Given the description of an element on the screen output the (x, y) to click on. 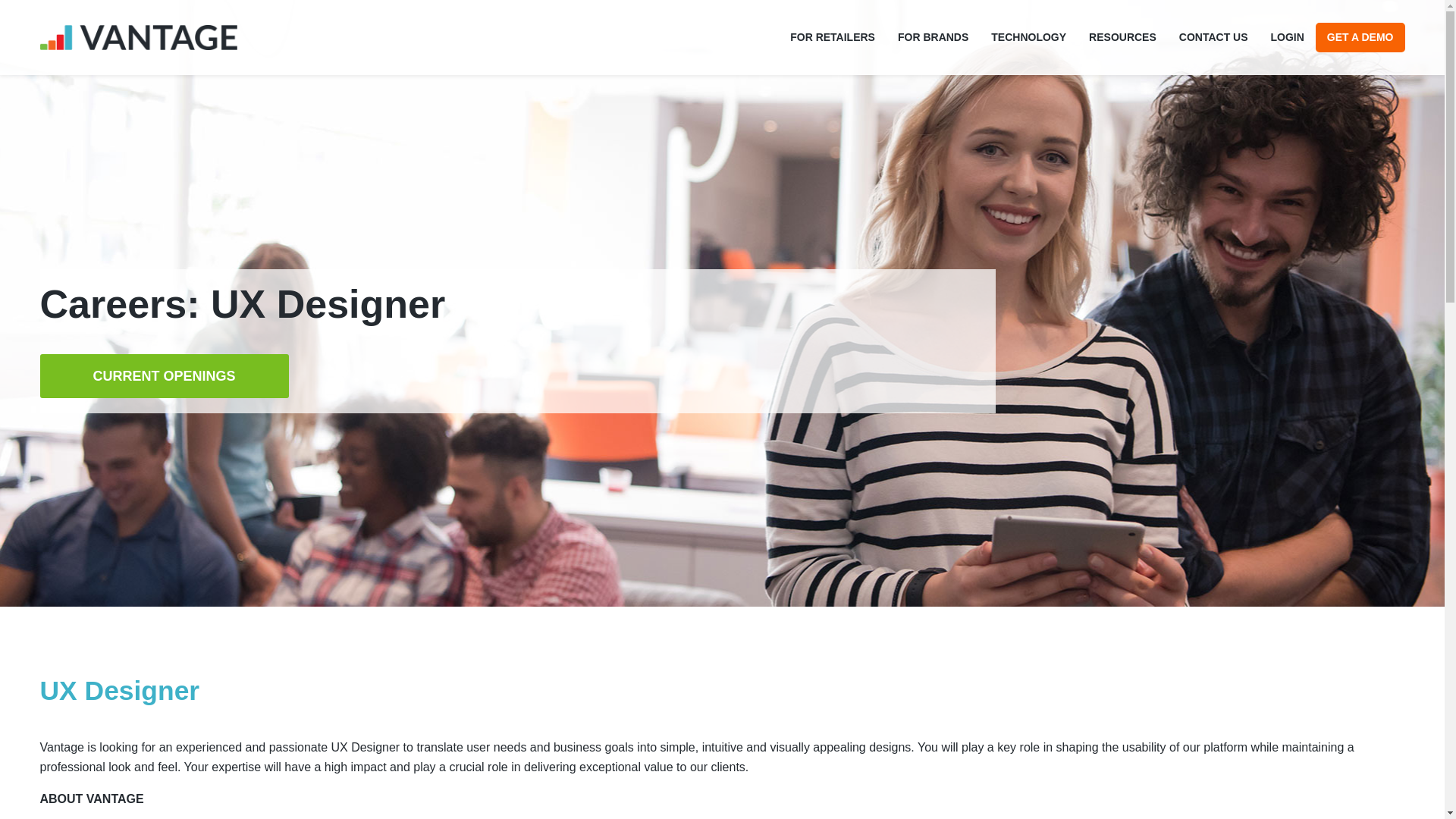
FOR BRANDS (933, 36)
CURRENT OPENINGS (163, 375)
RESOURCES (1122, 36)
FOR RETAILERS (832, 36)
CONTACT US (1213, 36)
TECHNOLOGY (1028, 36)
GET A DEMO (1359, 36)
LOGIN (1287, 36)
